Given the description of an element on the screen output the (x, y) to click on. 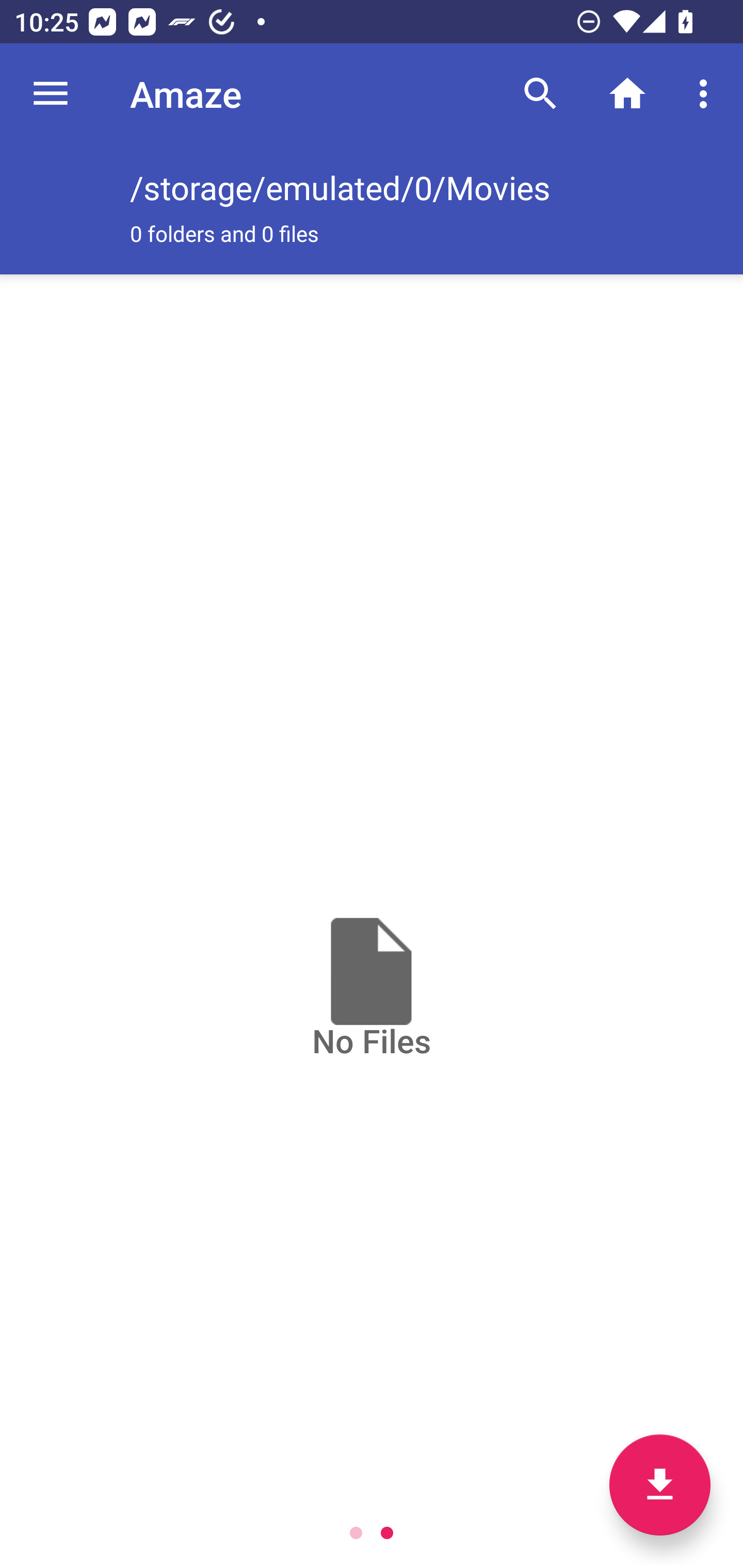
Navigate up (50, 93)
Search (540, 93)
Home (626, 93)
More options (706, 93)
